Given the description of an element on the screen output the (x, y) to click on. 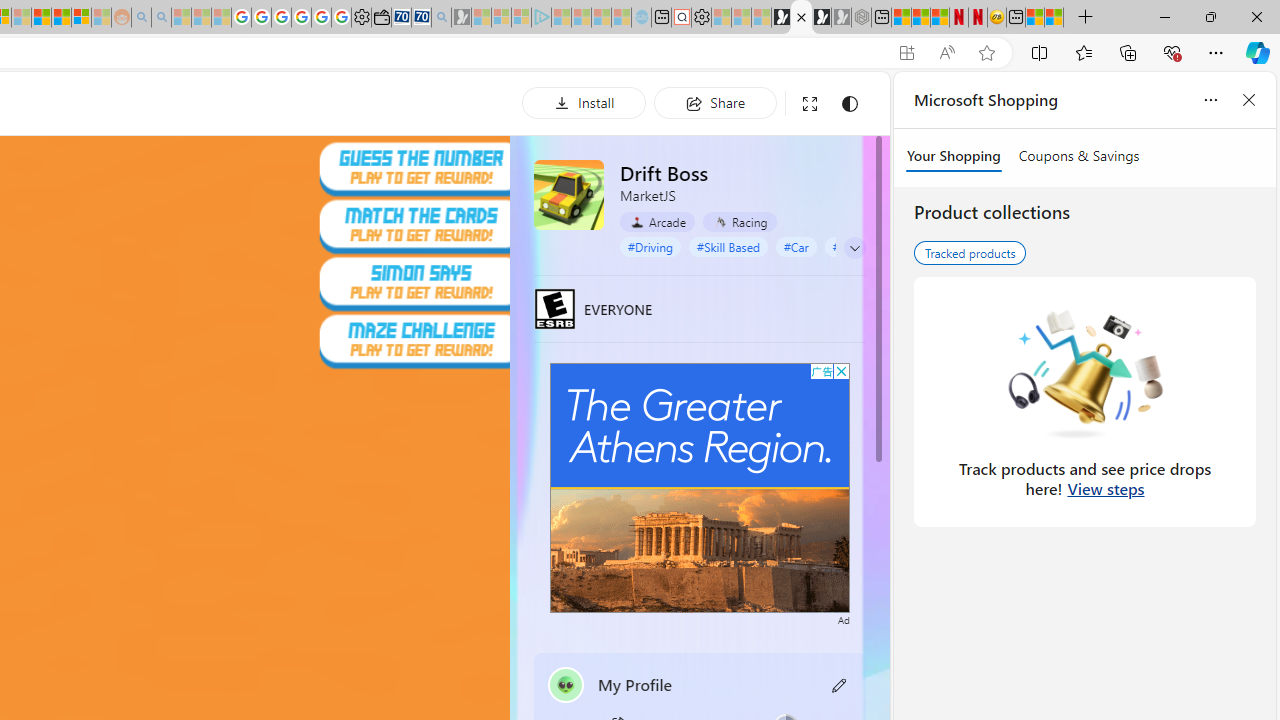
New tab (1016, 17)
